Given the description of an element on the screen output the (x, y) to click on. 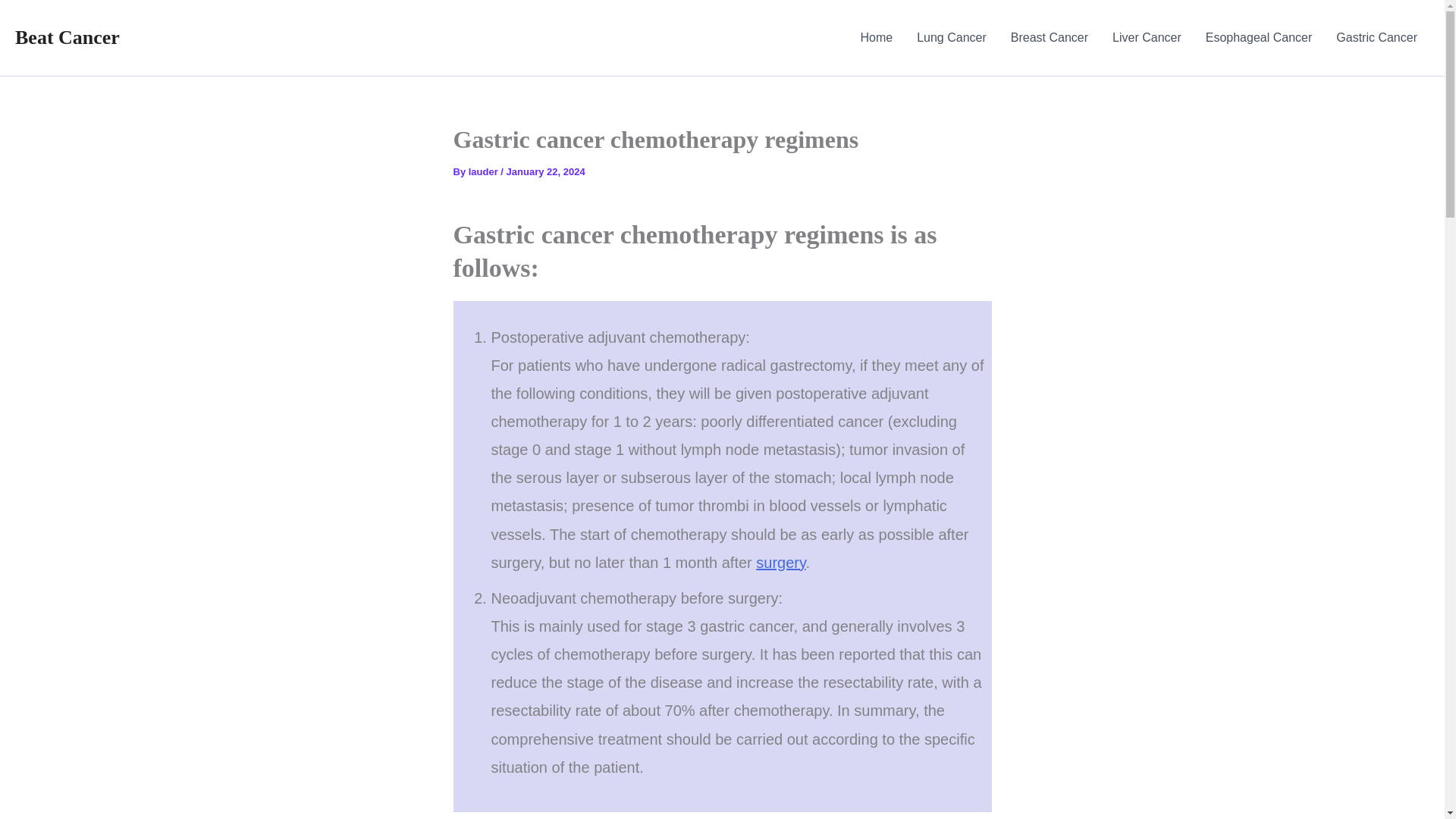
Lung Cancer (951, 38)
Liver Cancer (1146, 38)
Beat Cancer (66, 37)
Gastric Cancer (1376, 38)
Breast Cancer (1049, 38)
View all posts by lauder (484, 171)
surgery (780, 562)
Esophageal Cancer (1258, 38)
lauder (484, 171)
